Given the description of an element on the screen output the (x, y) to click on. 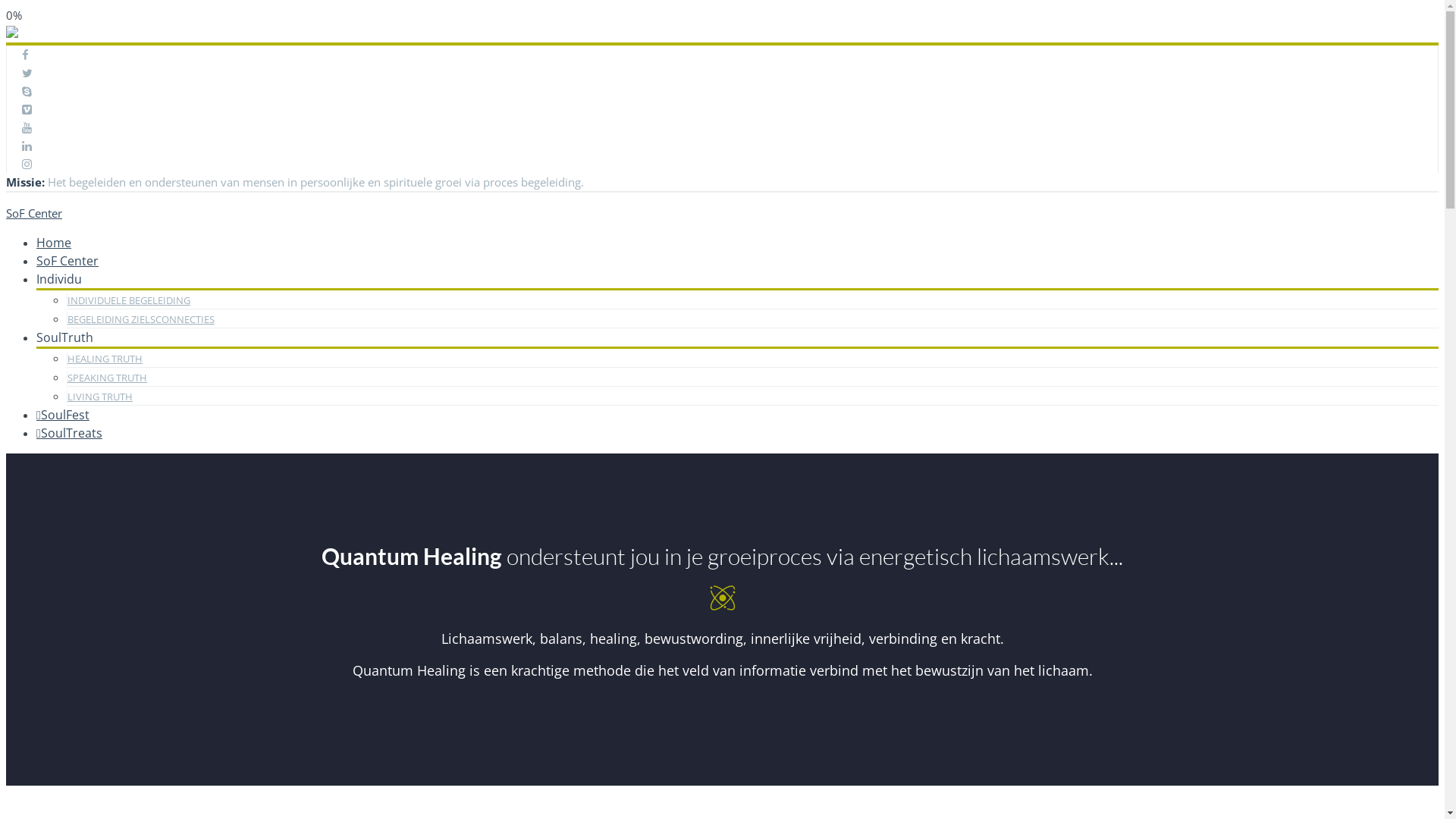
Individu Element type: text (58, 278)
SoulTreats Element type: text (69, 432)
HEALING TRUTH Element type: text (104, 358)
Home Element type: text (53, 242)
LIVING TRUTH Element type: text (99, 396)
BEGELEIDING ZIELSCONNECTIES Element type: text (140, 319)
SoulFest Element type: text (62, 414)
SoF Center Element type: text (67, 260)
SoulTruth Element type: text (64, 337)
SPEAKING TRUTH Element type: text (106, 377)
INDIVIDUELE BEGELEIDING Element type: text (128, 300)
SoF Center Element type: text (722, 212)
